Given the description of an element on the screen output the (x, y) to click on. 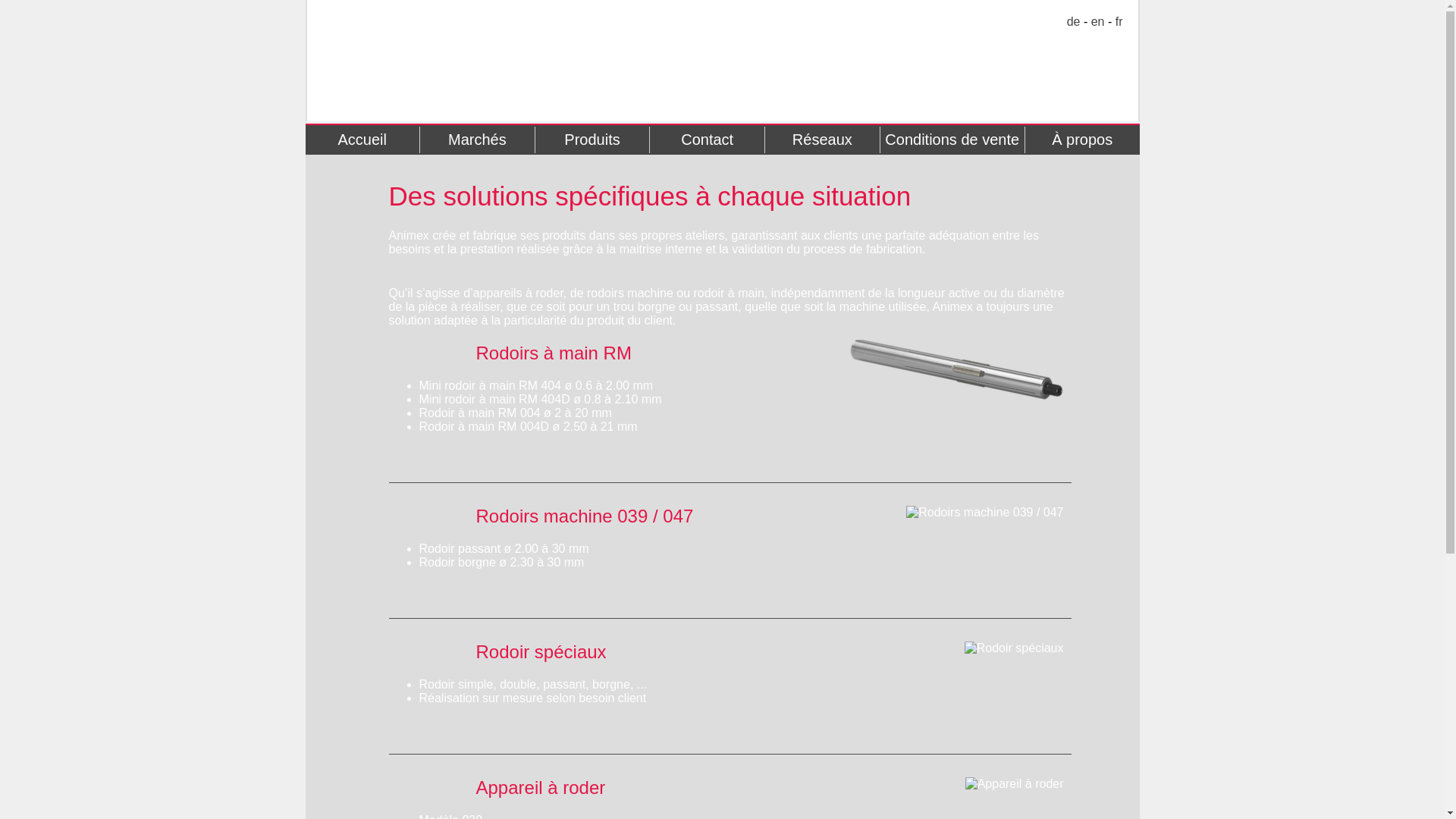
Demander plus d'informations Element type: text (483, 723)
Accueil Element type: text (361, 139)
Exemple d'utilisation RM004D [PDF] Element type: text (680, 451)
Produits Element type: text (591, 139)
Exemple d'utilisation AH039 [PDF] Element type: text (675, 587)
fr Element type: text (1119, 21)
Demander plus d'informations Element type: text (483, 587)
Conditions de vente Element type: text (951, 139)
Demander plus d'informations Element type: text (483, 451)
en Element type: text (1097, 21)
de Element type: text (1073, 21)
Exemple d'utilisation RM404D [PDF] Element type: text (895, 451)
Contact Element type: text (706, 139)
